Given the description of an element on the screen output the (x, y) to click on. 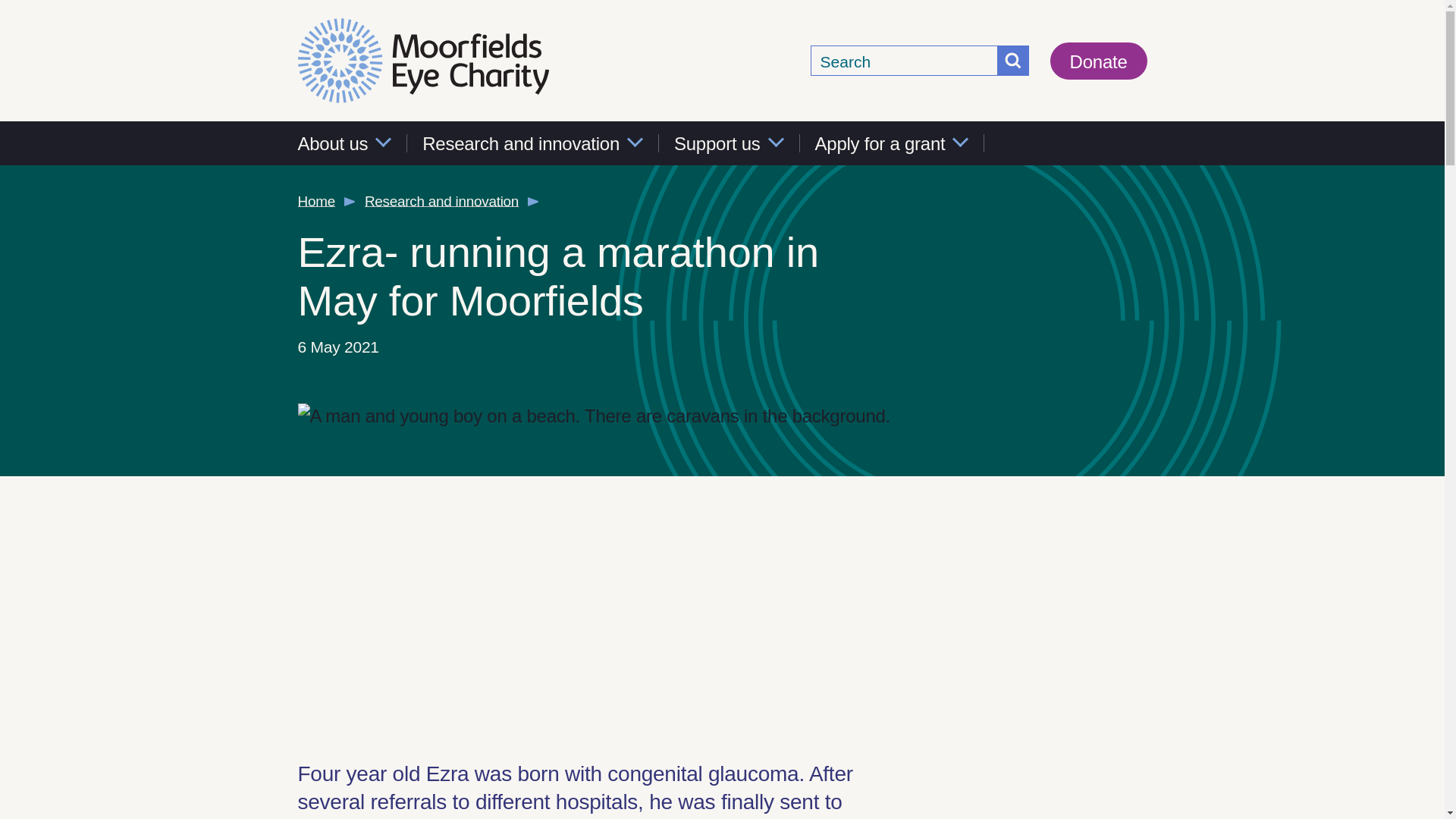
Go (1013, 60)
Go (1013, 60)
Donate (1098, 60)
Go (1013, 60)
